Given the description of an element on the screen output the (x, y) to click on. 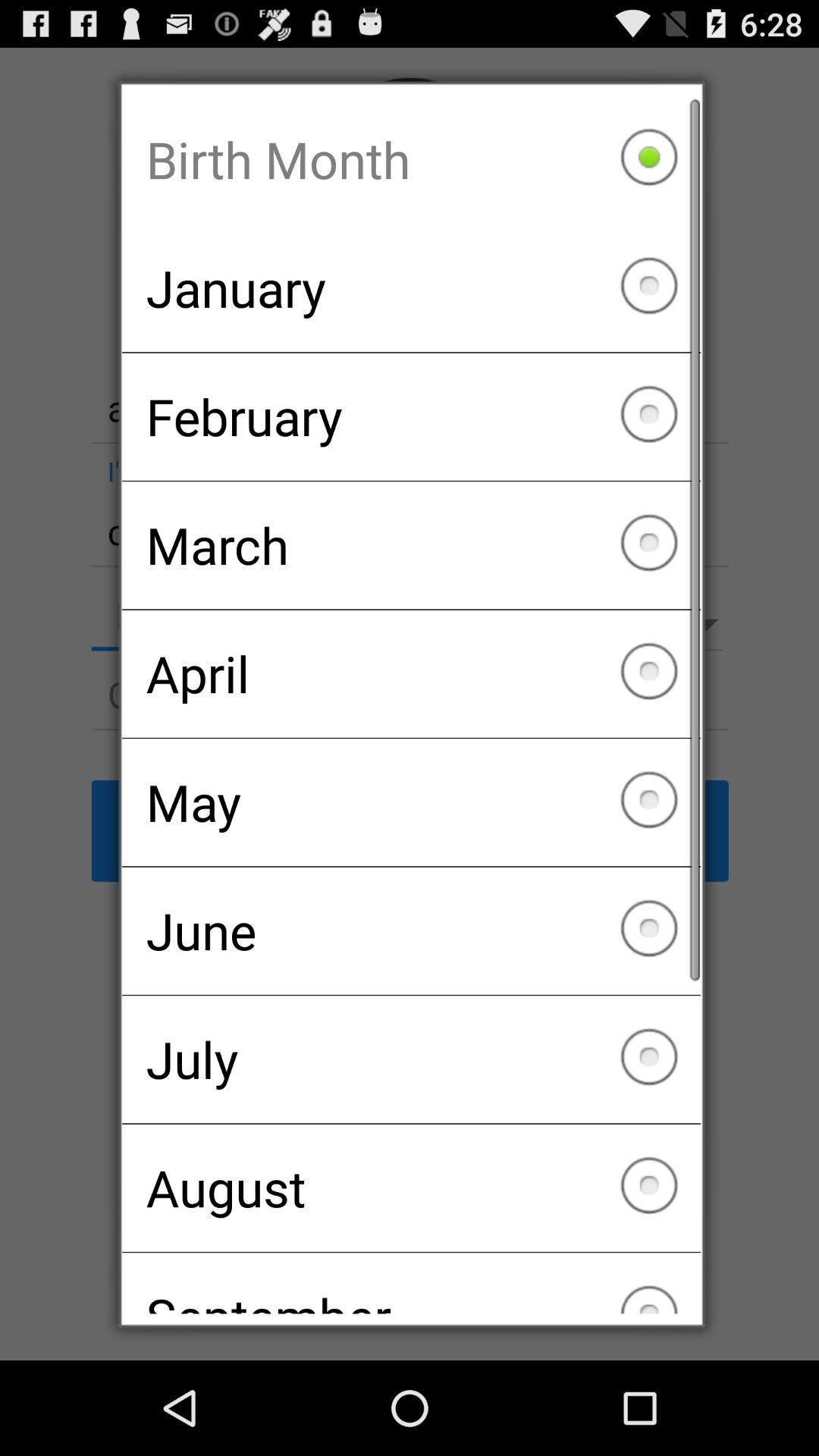
open august icon (411, 1187)
